Given the description of an element on the screen output the (x, y) to click on. 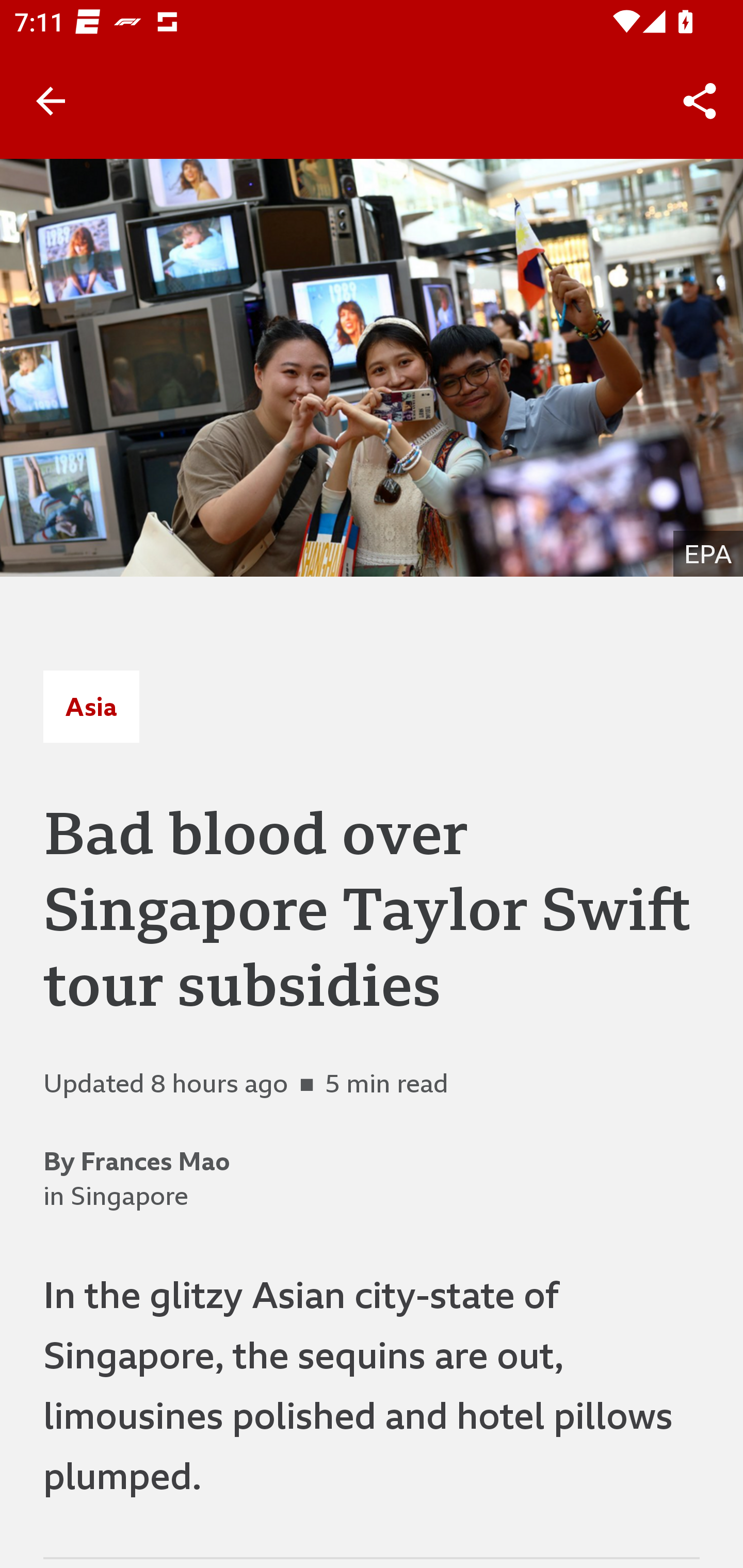
Back (50, 101)
Share (699, 101)
Asia (91, 706)
